Given the description of an element on the screen output the (x, y) to click on. 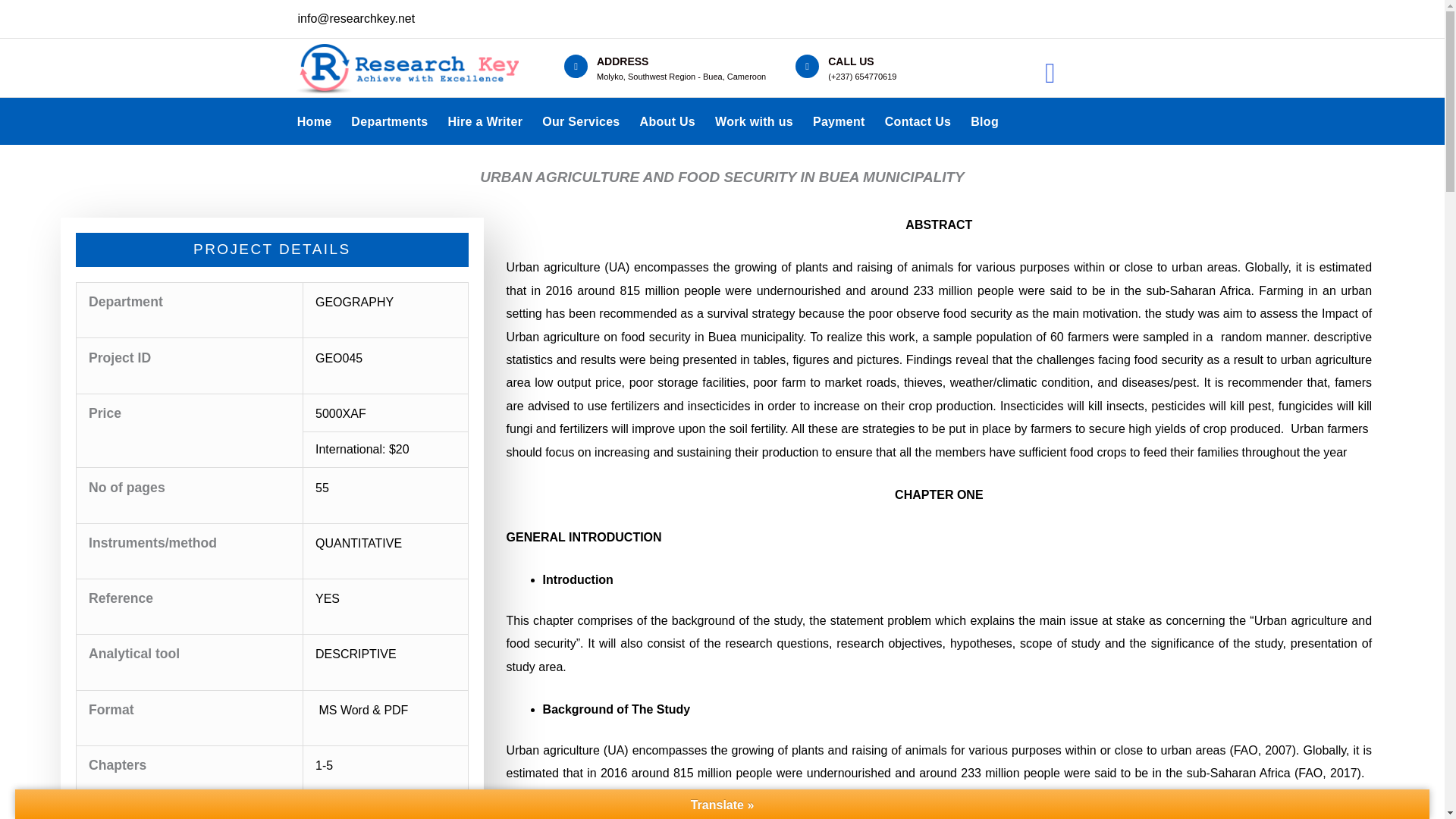
Blog (984, 122)
Hire a Writer (485, 122)
Work with us (753, 122)
Contact Us (917, 122)
Payment (839, 122)
About Us (668, 122)
Departments (389, 122)
Home (314, 122)
Our Services (580, 122)
